Given the description of an element on the screen output the (x, y) to click on. 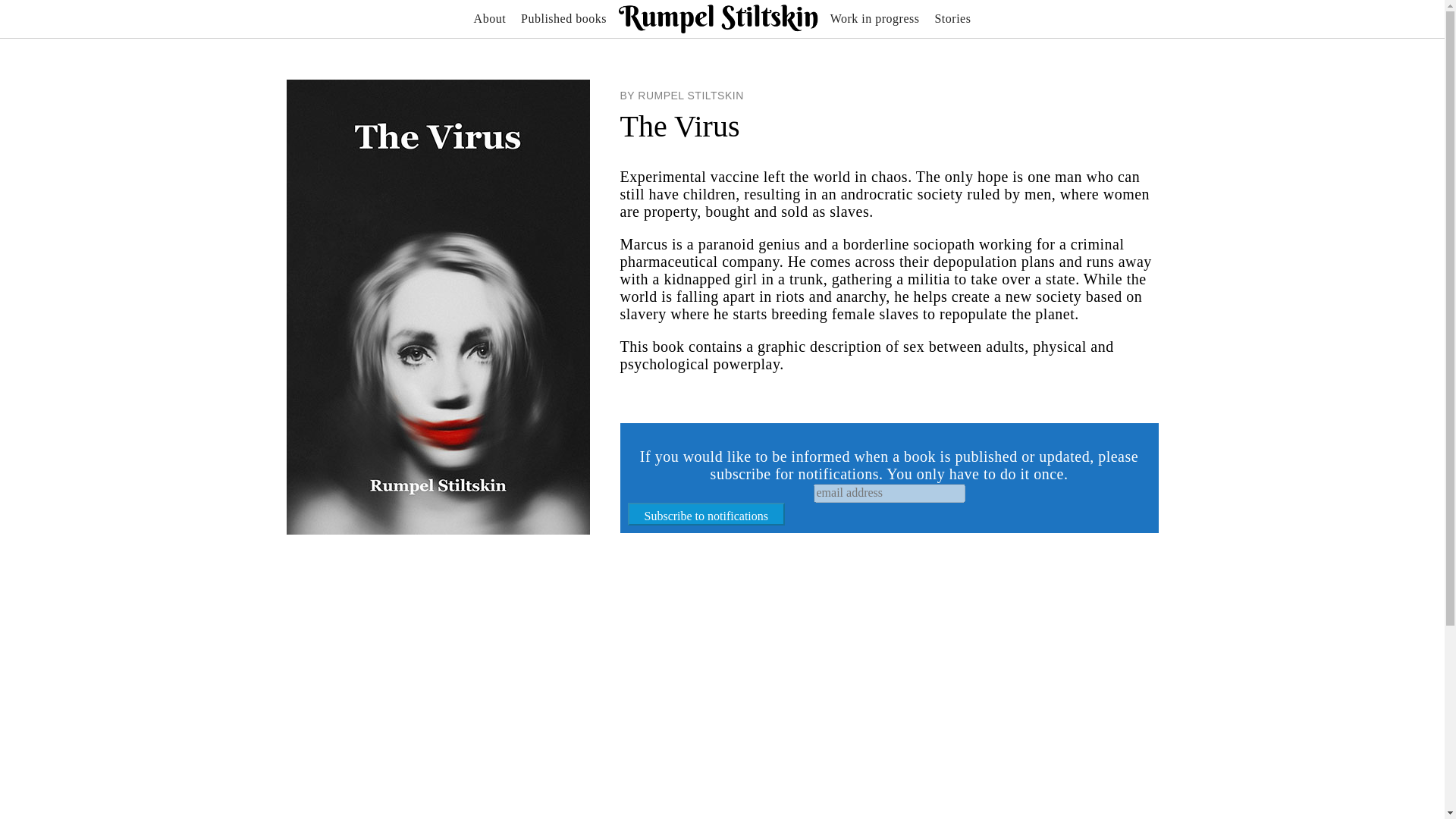
Stories (952, 18)
About (489, 18)
Work in progress (874, 18)
Subscribe to notifications (706, 513)
Published books (563, 18)
Subscribe to notifications (706, 513)
